Given the description of an element on the screen output the (x, y) to click on. 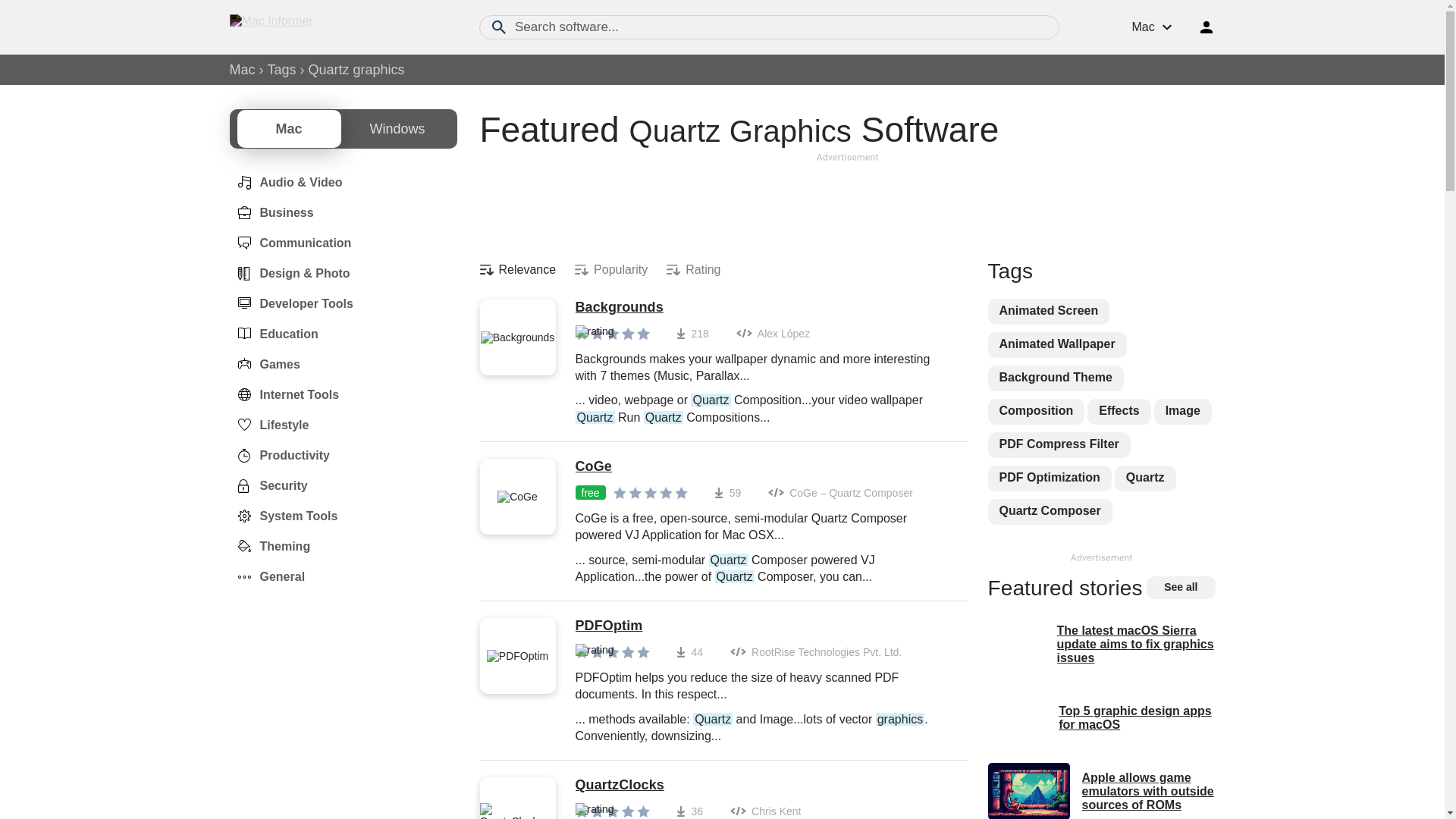
Productivity (278, 455)
Developer Tools (290, 304)
Theming (269, 546)
QuartzClocks (763, 785)
Backgrounds (763, 307)
Rating (693, 269)
CoGe (763, 466)
Mac (241, 69)
CoGe (763, 466)
Tags (282, 69)
